Given the description of an element on the screen output the (x, y) to click on. 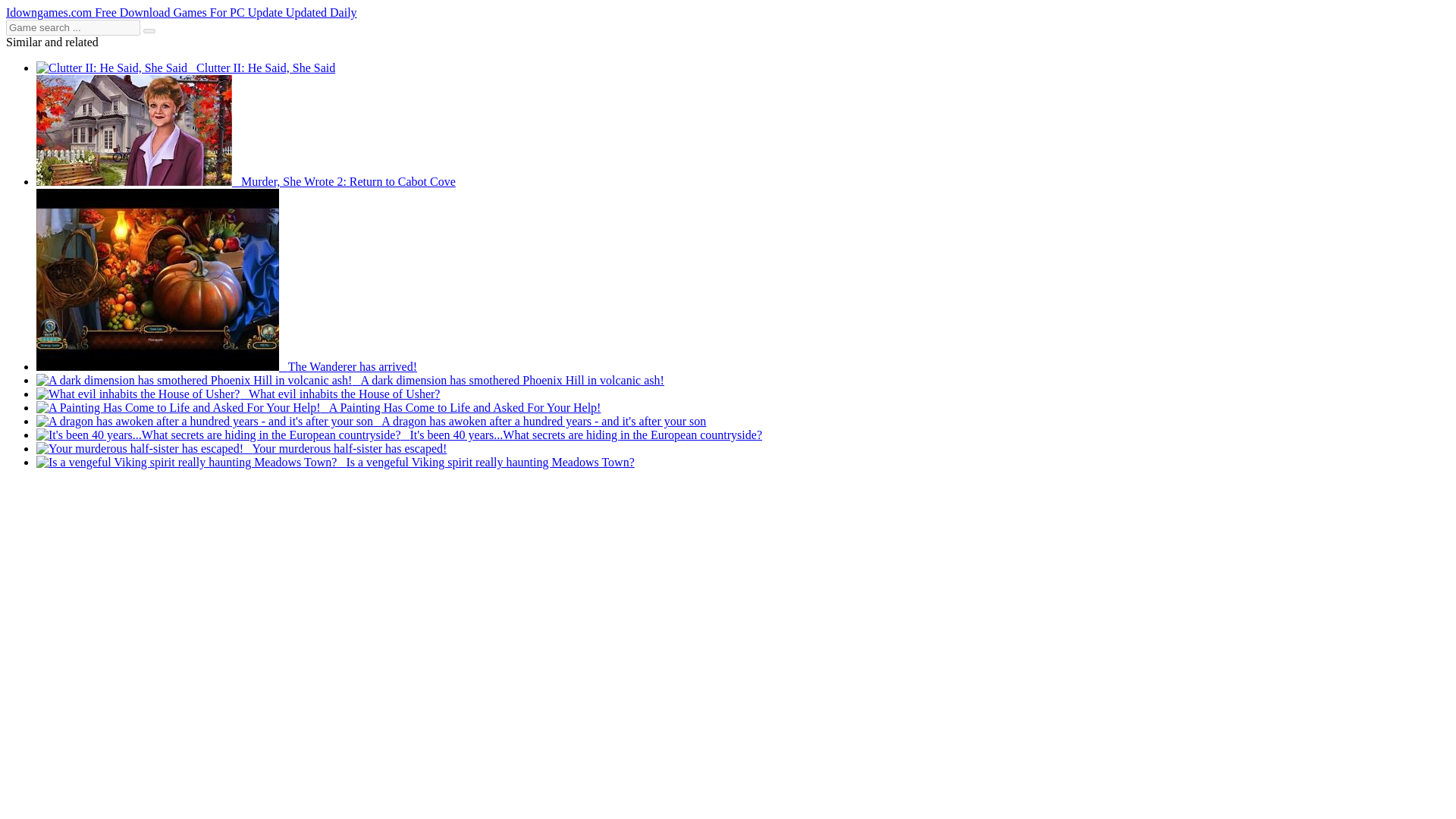
  Clutter II: He Said, She Said (185, 67)
  Your murderous half-sister has escaped! (241, 448)
Murder, She Wrote 2: Return to Cabot Cove (245, 181)
Clutter II: He Said, She Said (185, 67)
What evil inhabits the House of Usher? (237, 393)
  The Wanderer has arrived! (226, 366)
